Given the description of an element on the screen output the (x, y) to click on. 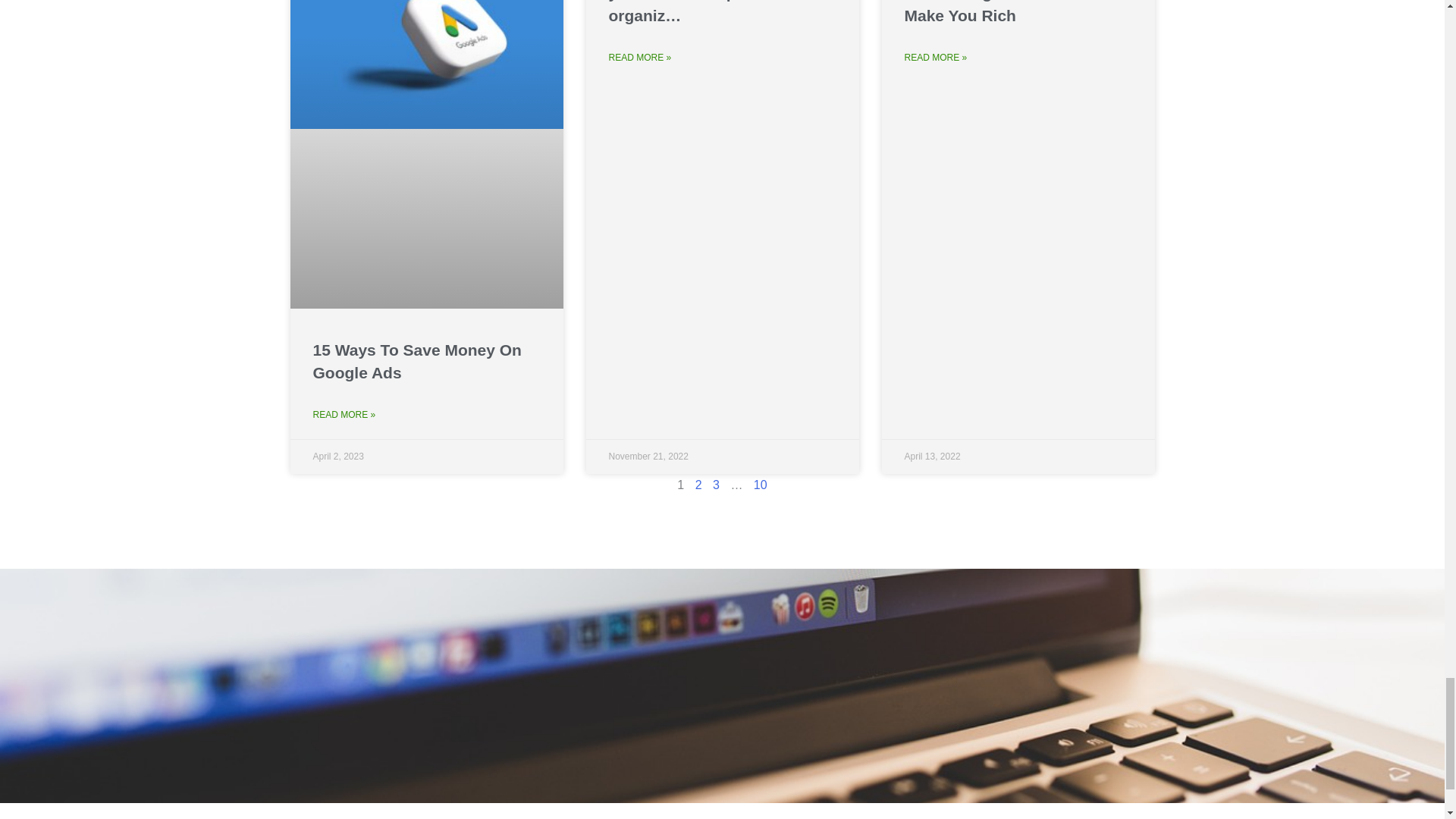
15 Ways To Save Money On Google Ads (417, 360)
